Given the description of an element on the screen output the (x, y) to click on. 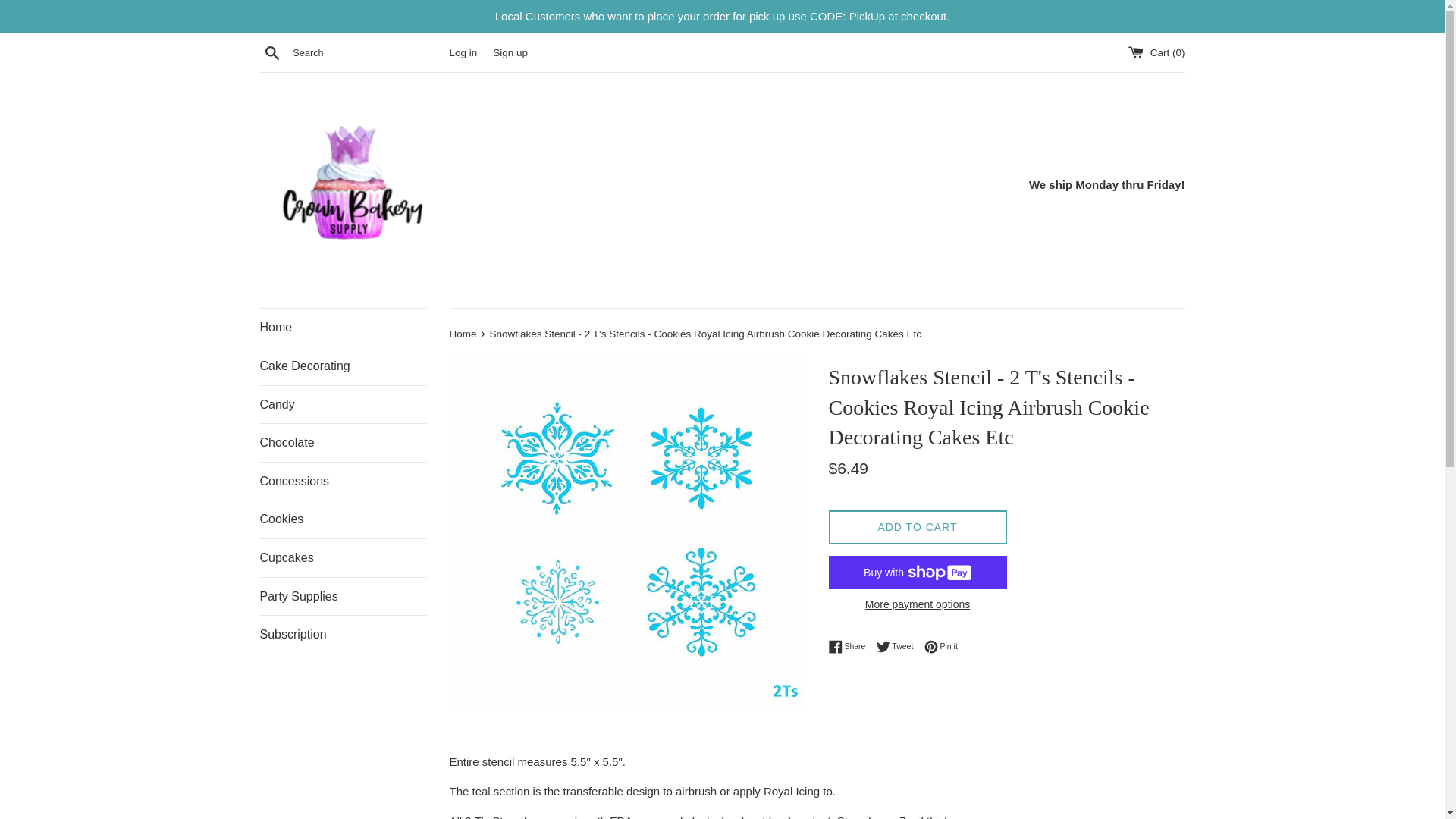
Cookies (342, 519)
Home (850, 646)
Share on Facebook (463, 333)
Concessions (850, 646)
Party Supplies (342, 481)
Back to the frontpage (342, 596)
Tweet on Twitter (463, 333)
Search (898, 646)
More payment options (271, 52)
Candy (917, 604)
Sign up (342, 404)
Home (510, 52)
